Given the description of an element on the screen output the (x, y) to click on. 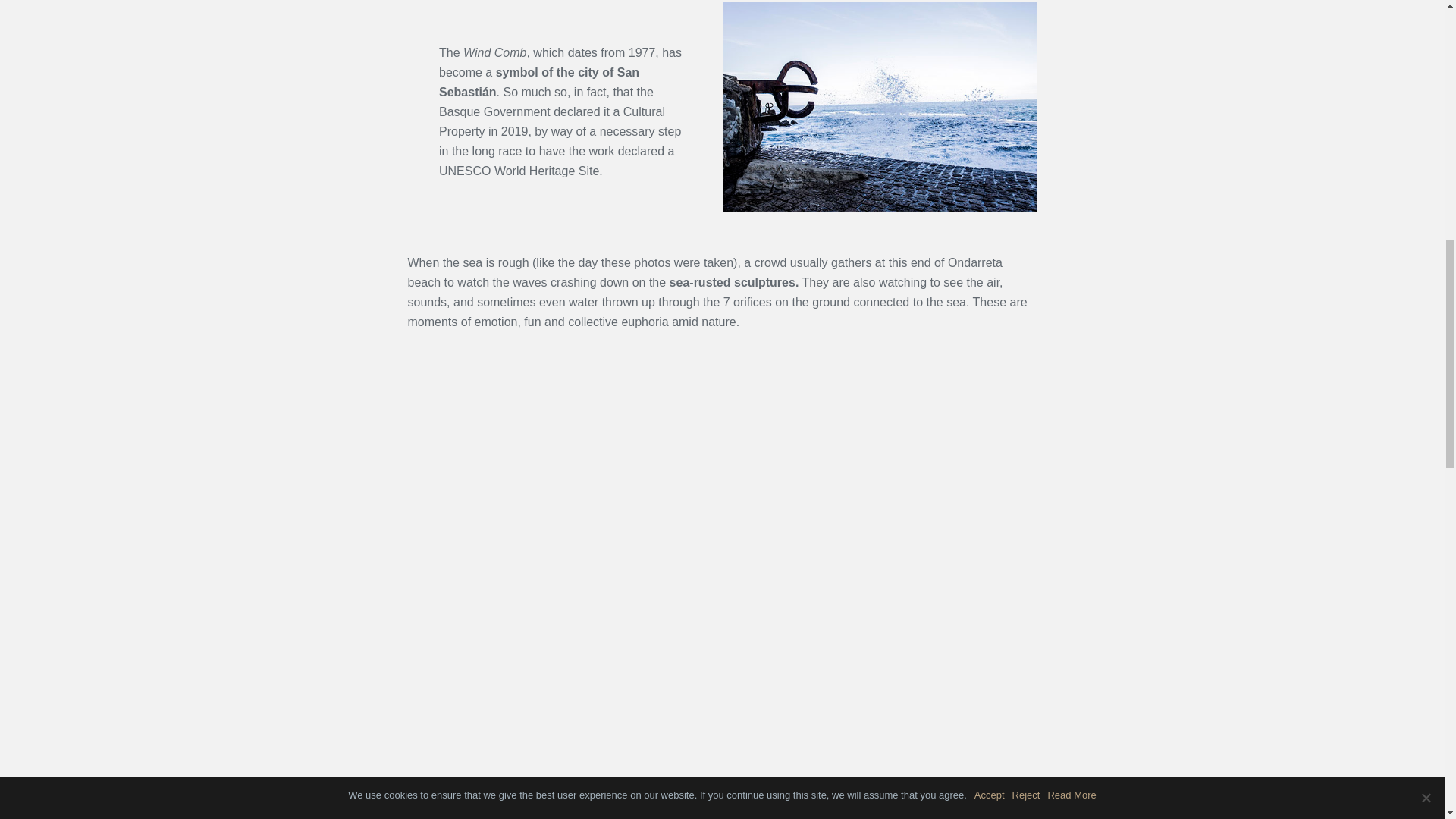
Serie Peine del Viento ahora con la ola encima (881, 465)
Serie Peine del Viento ahora esperando la ola (563, 465)
Peine del Viento con ola enorme y pareja (563, 672)
Peine del Viento mojado y en tranquilidad (879, 106)
